Given the description of an element on the screen output the (x, y) to click on. 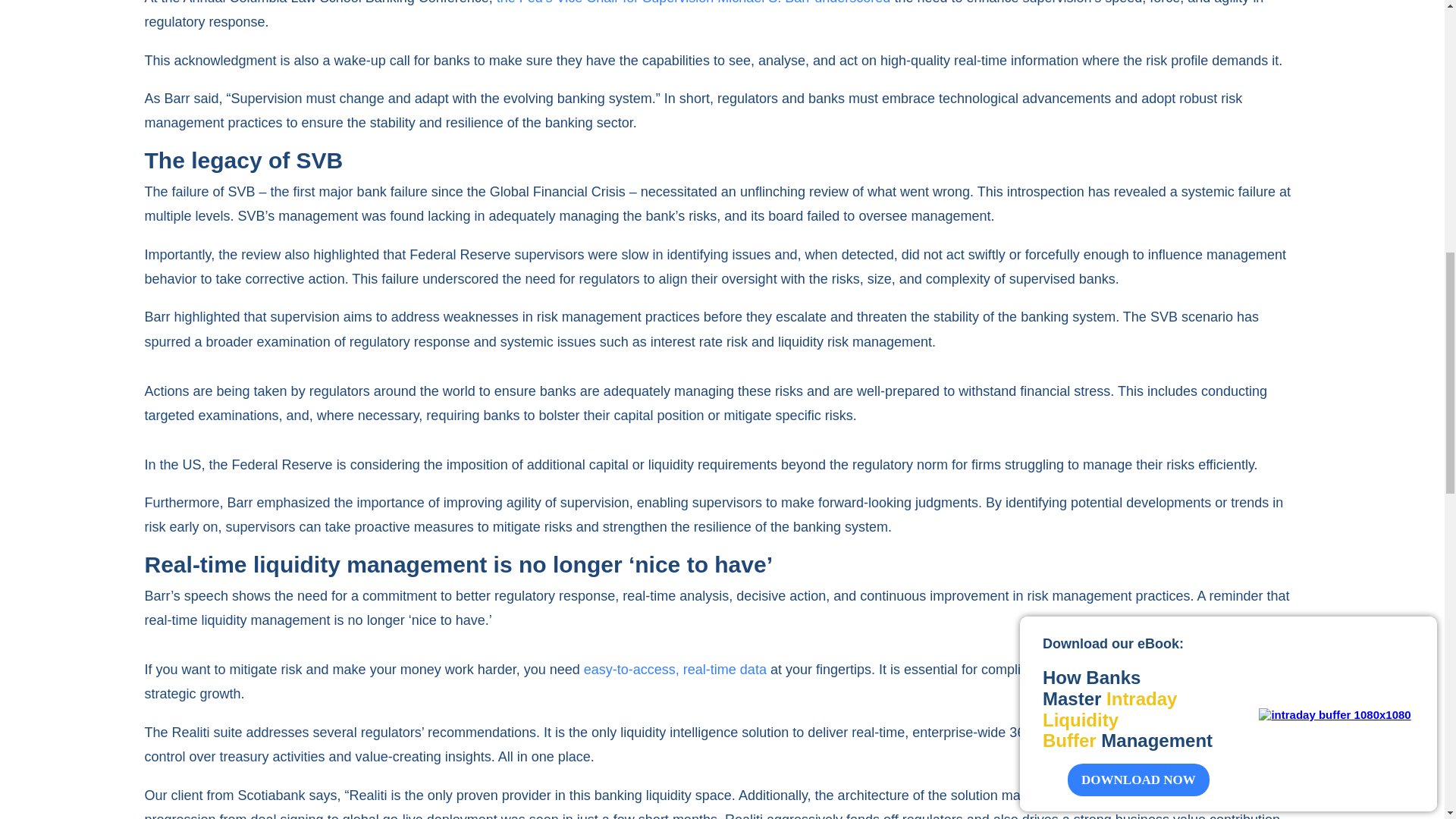
easy-to-access, real-time data (675, 669)
